Given the description of an element on the screen output the (x, y) to click on. 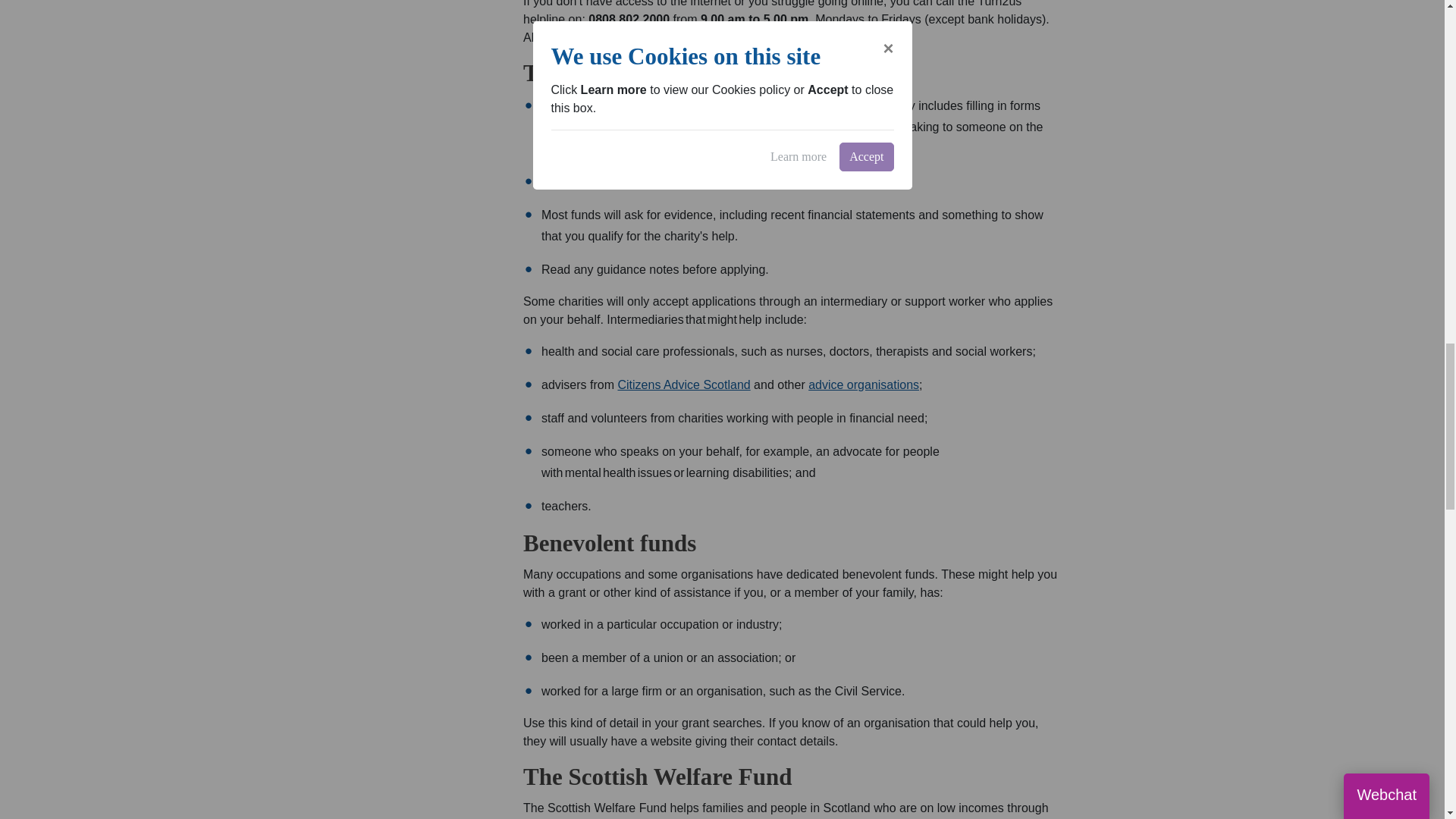
advice organisations (863, 384)
Citizens Advice Scotland (683, 384)
